Given the description of an element on the screen output the (x, y) to click on. 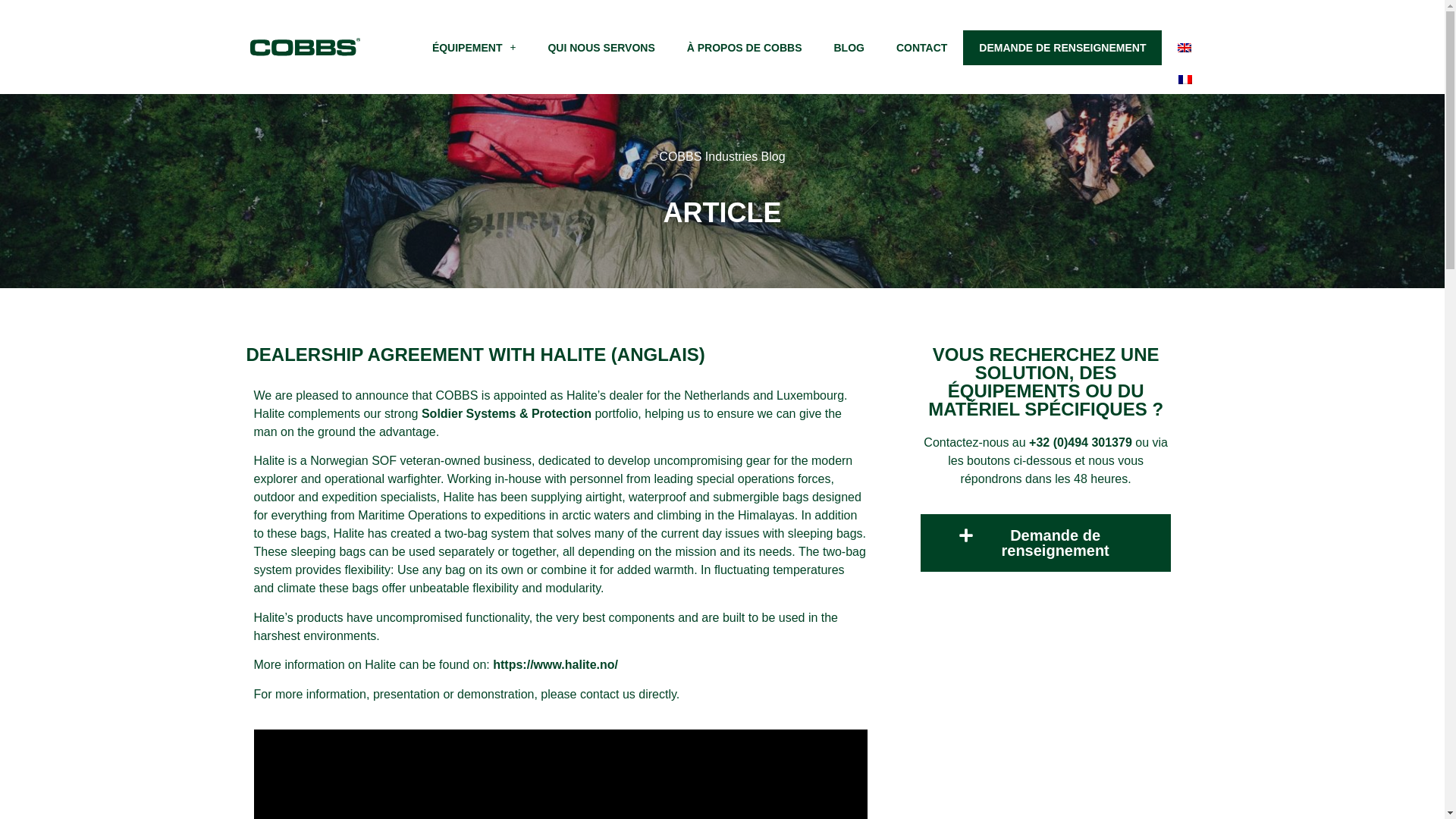
QUI NOUS SERVONS (600, 47)
BLOG (848, 47)
CONTACT (921, 47)
DEMANDE DE RENSEIGNEMENT (1061, 47)
